Given the description of an element on the screen output the (x, y) to click on. 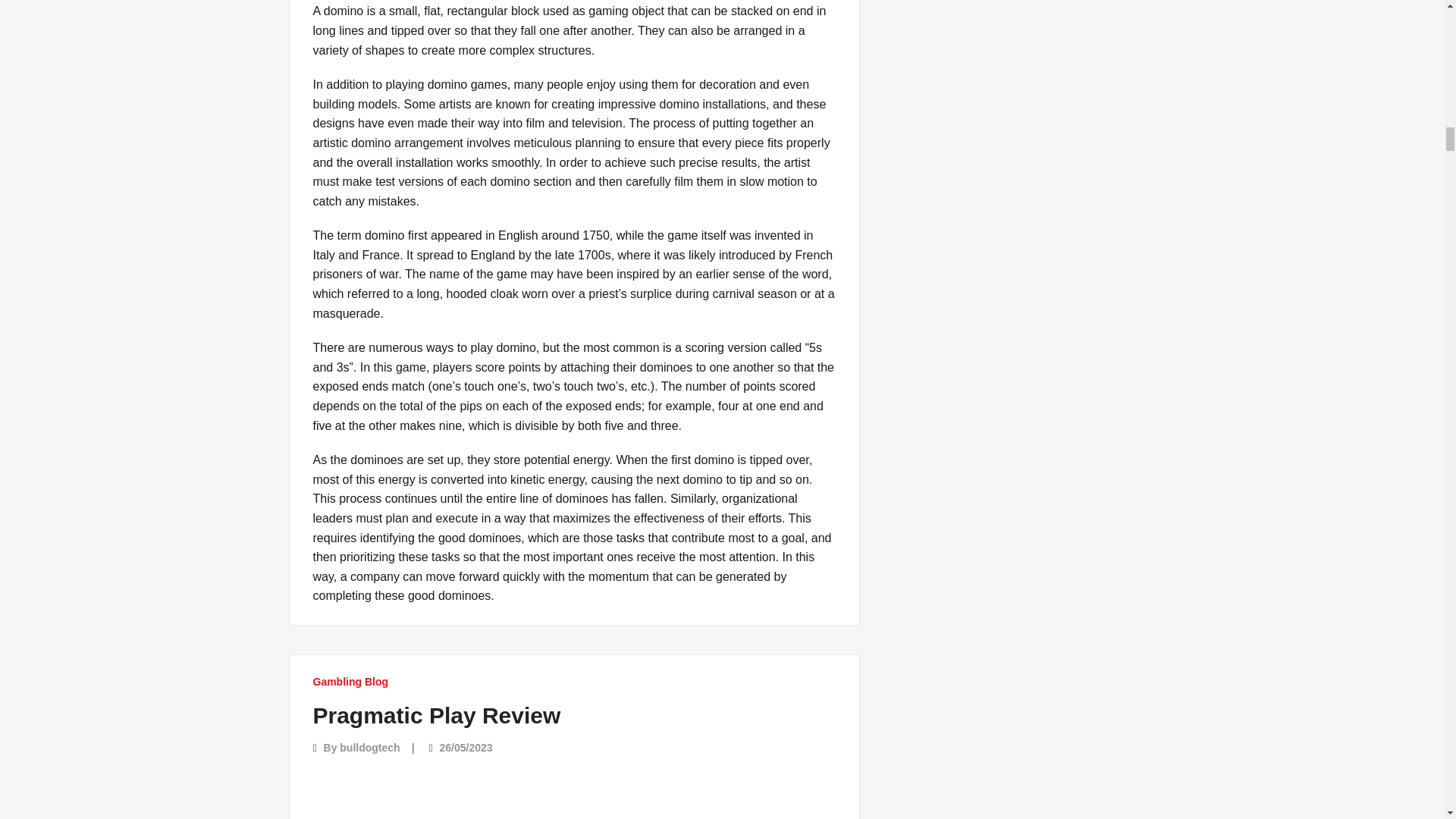
bulldogtech (368, 747)
Pragmatic Play Review (436, 715)
Gambling Blog (350, 681)
